Given the description of an element on the screen output the (x, y) to click on. 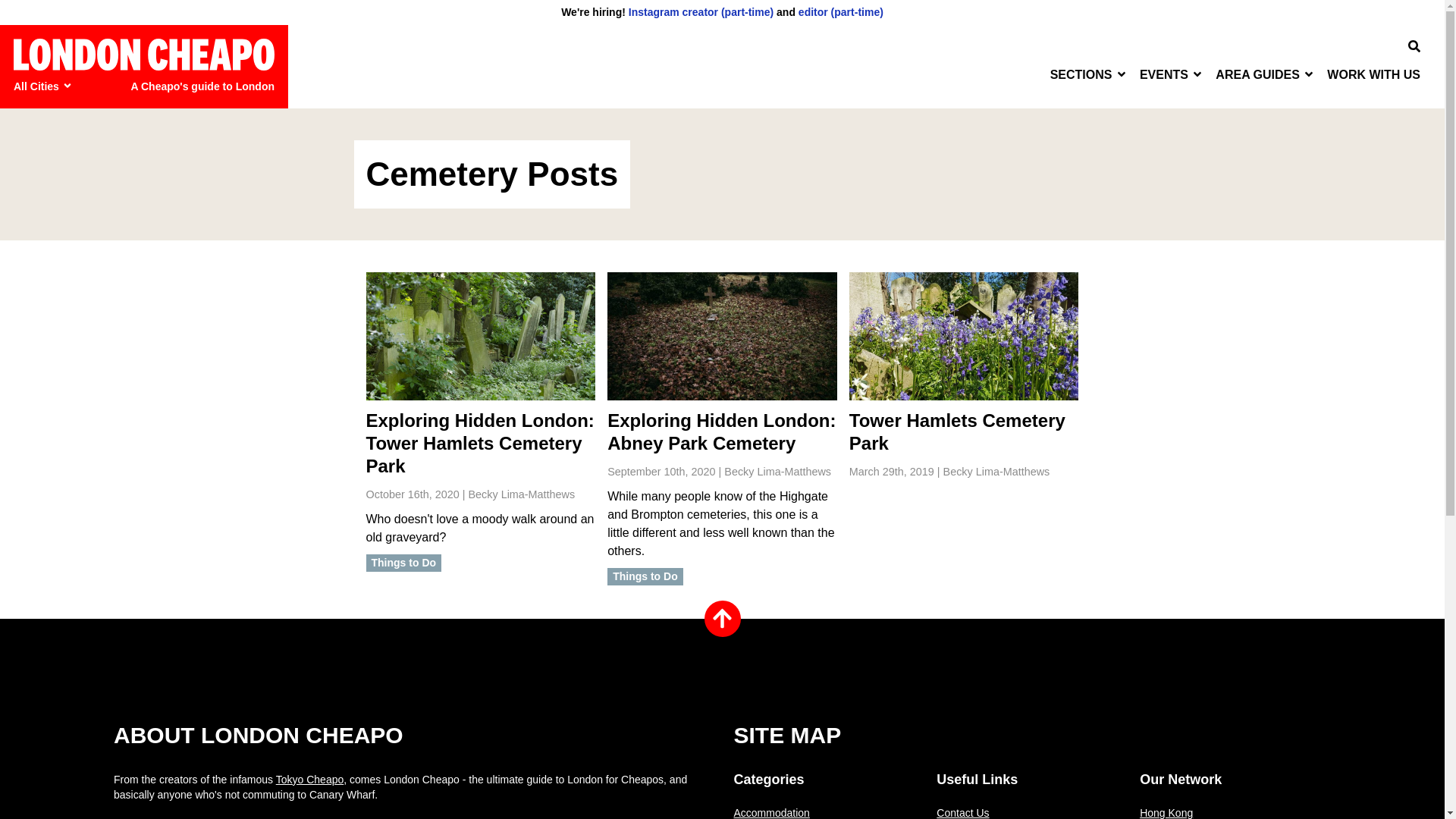
SECTIONS (1088, 74)
London Cheapo Homepage (144, 52)
Events (1171, 74)
AREA GUIDES (1264, 74)
EVENTS (1171, 74)
London Cheapo (144, 53)
All Cities (45, 86)
Sections (1088, 74)
